Given the description of an element on the screen output the (x, y) to click on. 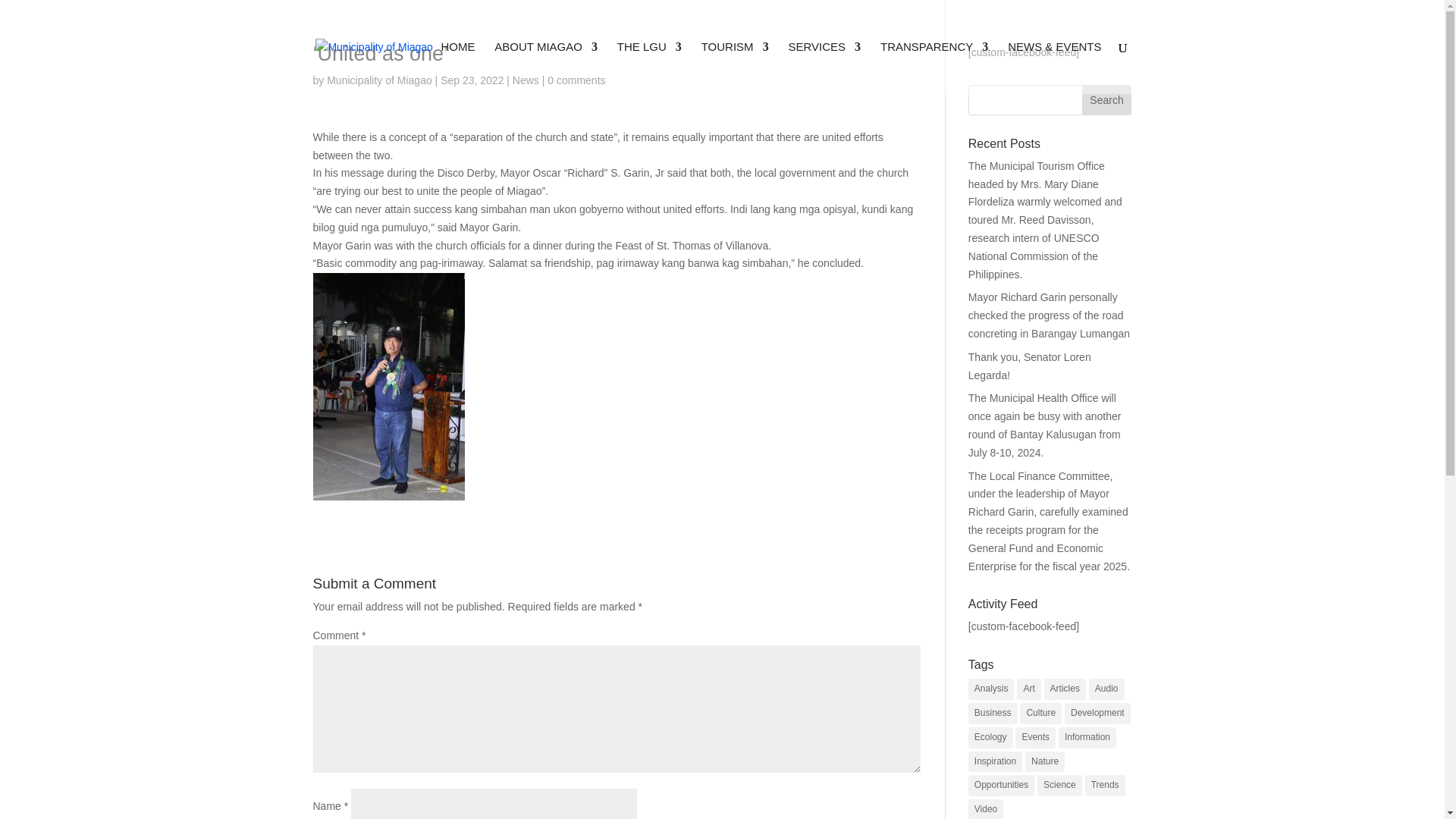
TOURISM (734, 67)
THE LGU (649, 67)
Search (1106, 100)
ABOUT MIAGAO (545, 67)
Posts by Municipality of Miagao (379, 80)
SERVICES (825, 67)
